Given the description of an element on the screen output the (x, y) to click on. 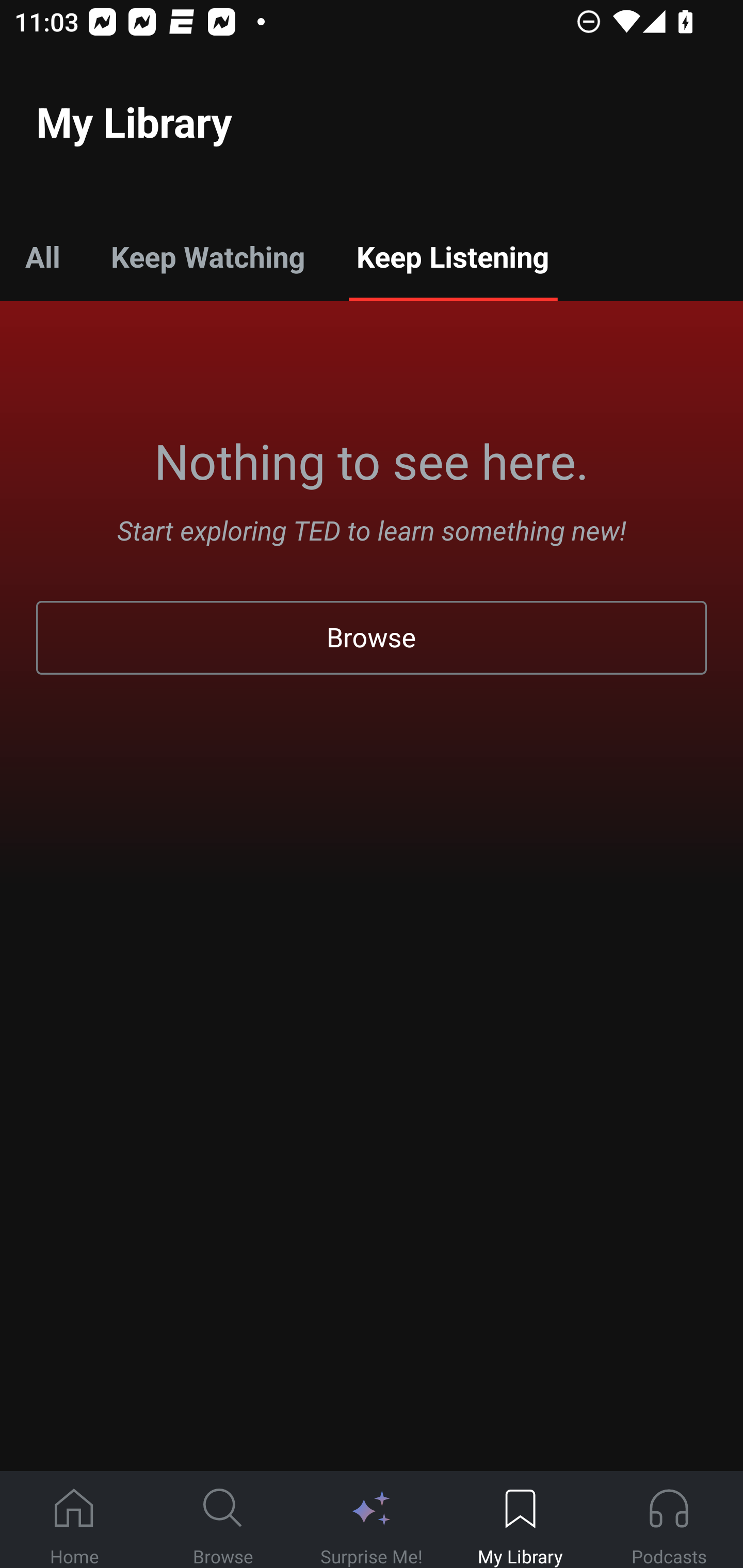
All (42, 256)
Keep Watching (207, 256)
Keep Listening (452, 256)
Browse (371, 637)
Home (74, 1520)
Browse (222, 1520)
Surprise Me! (371, 1520)
My Library (519, 1520)
Podcasts (668, 1520)
